Given the description of an element on the screen output the (x, y) to click on. 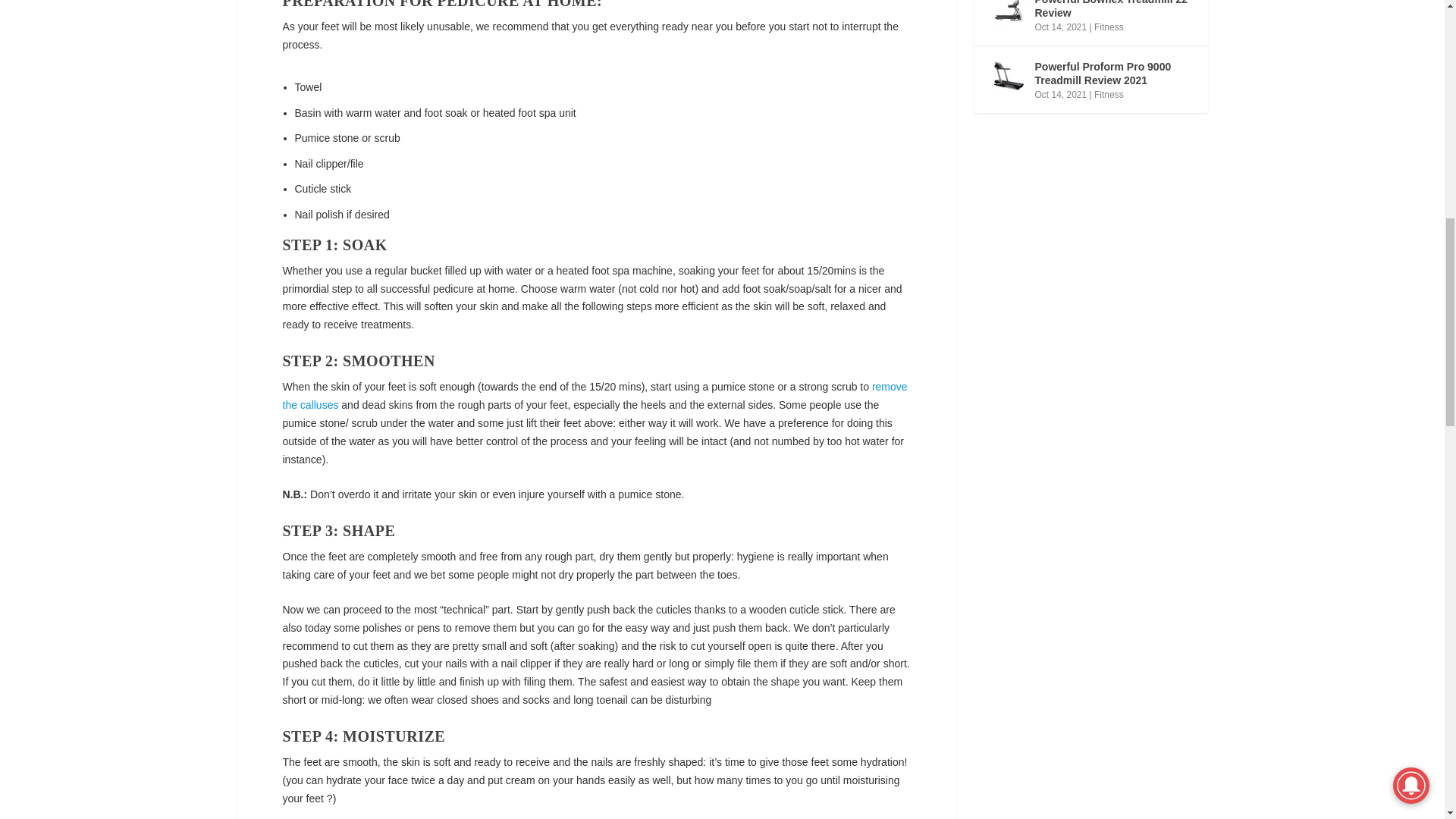
remove the calluses (594, 395)
